Given the description of an element on the screen output the (x, y) to click on. 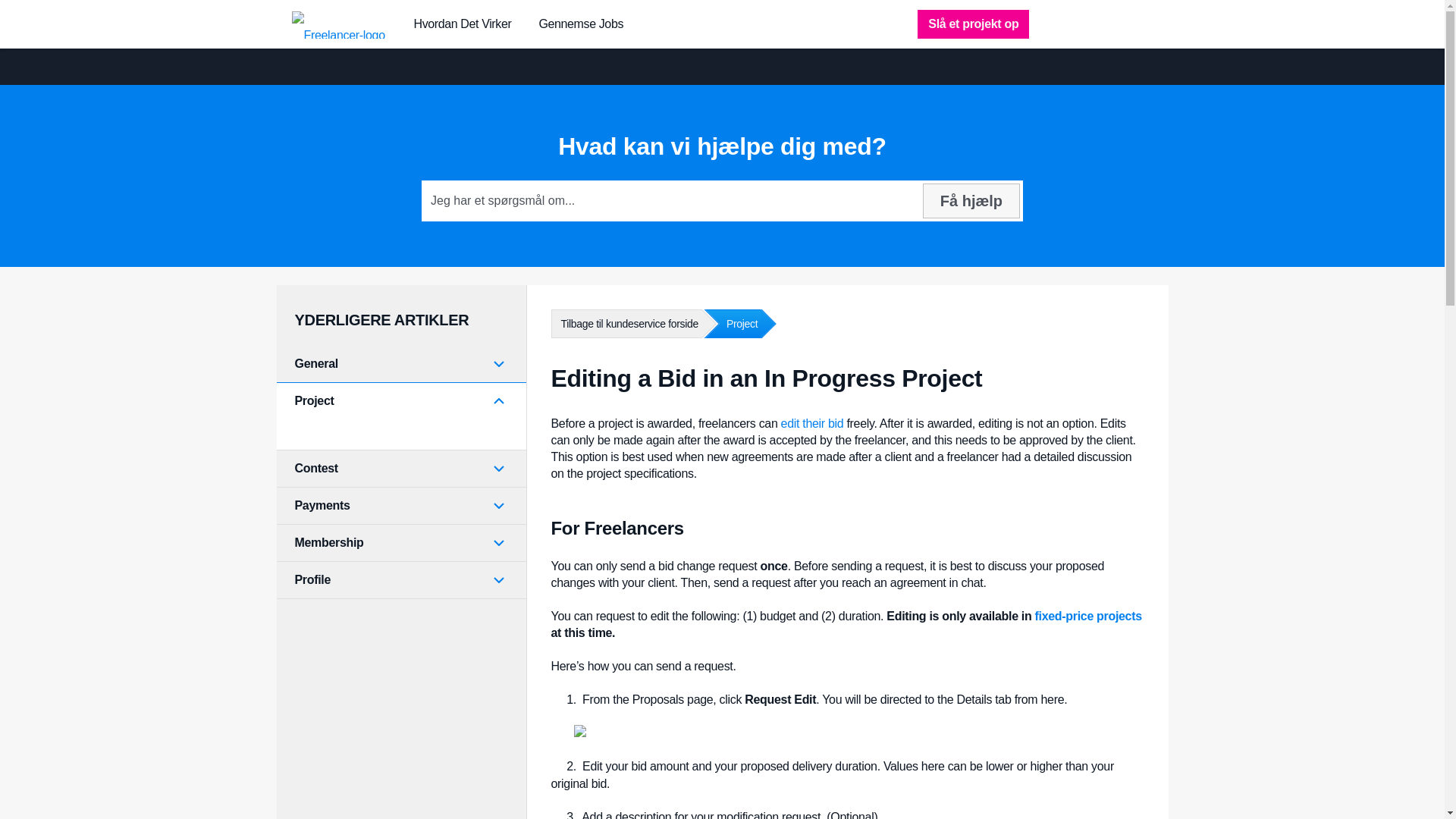
Project (400, 401)
Gennemse Jobs (580, 24)
edit their bid (812, 422)
Tilbage til kundeservice forside (625, 323)
fixed-price projects (1088, 615)
Contest (400, 468)
Payments (400, 505)
Membership (400, 542)
General (400, 363)
Profile (400, 579)
Project (730, 323)
Hvordan Det Virker (462, 24)
